Given the description of an element on the screen output the (x, y) to click on. 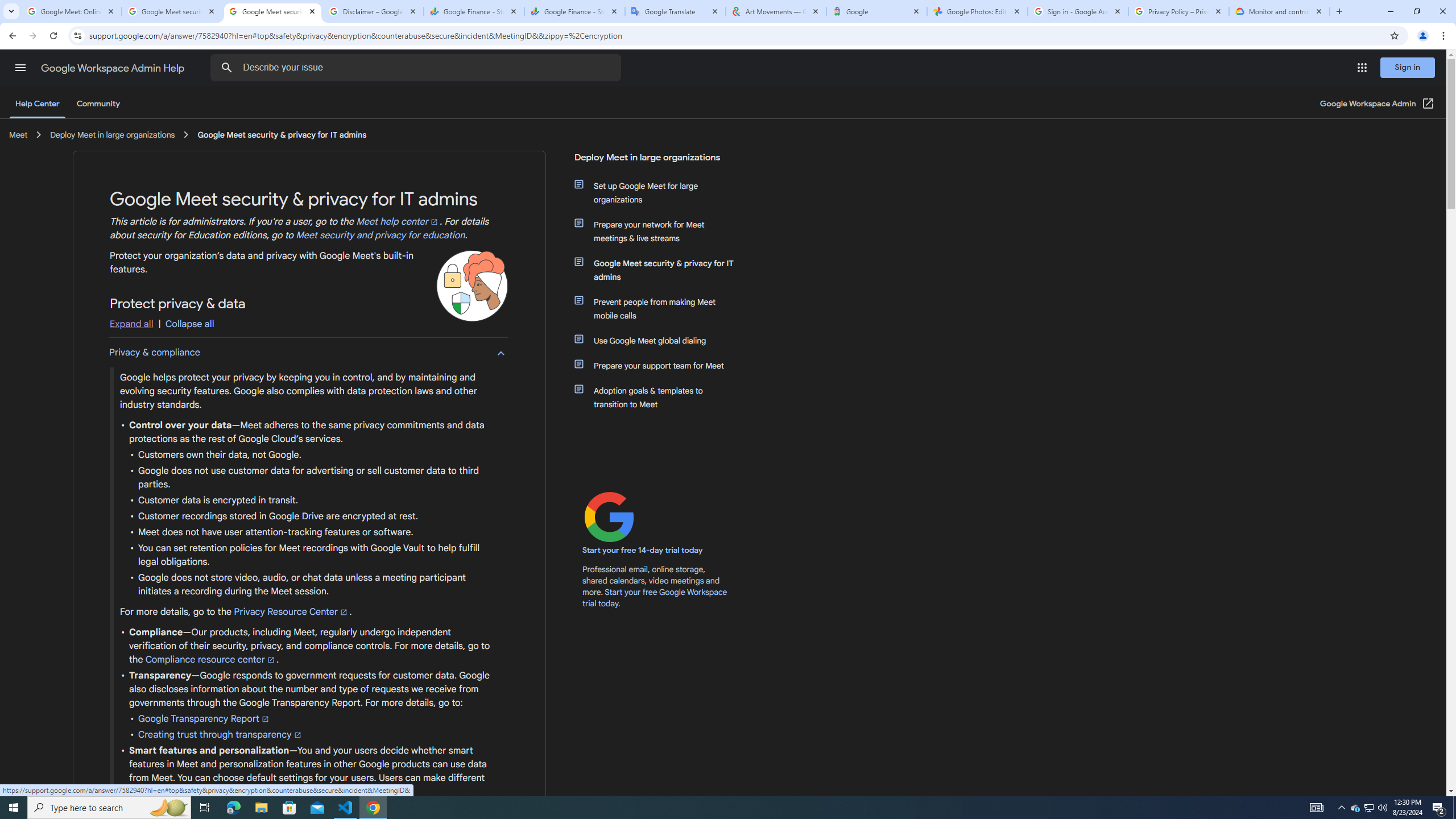
Help Center (36, 103)
Prepare your support team for Meet (661, 365)
Sign in (1407, 67)
Google Workspace Admin (Open in a new window) (1377, 103)
